Given the description of an element on the screen output the (x, y) to click on. 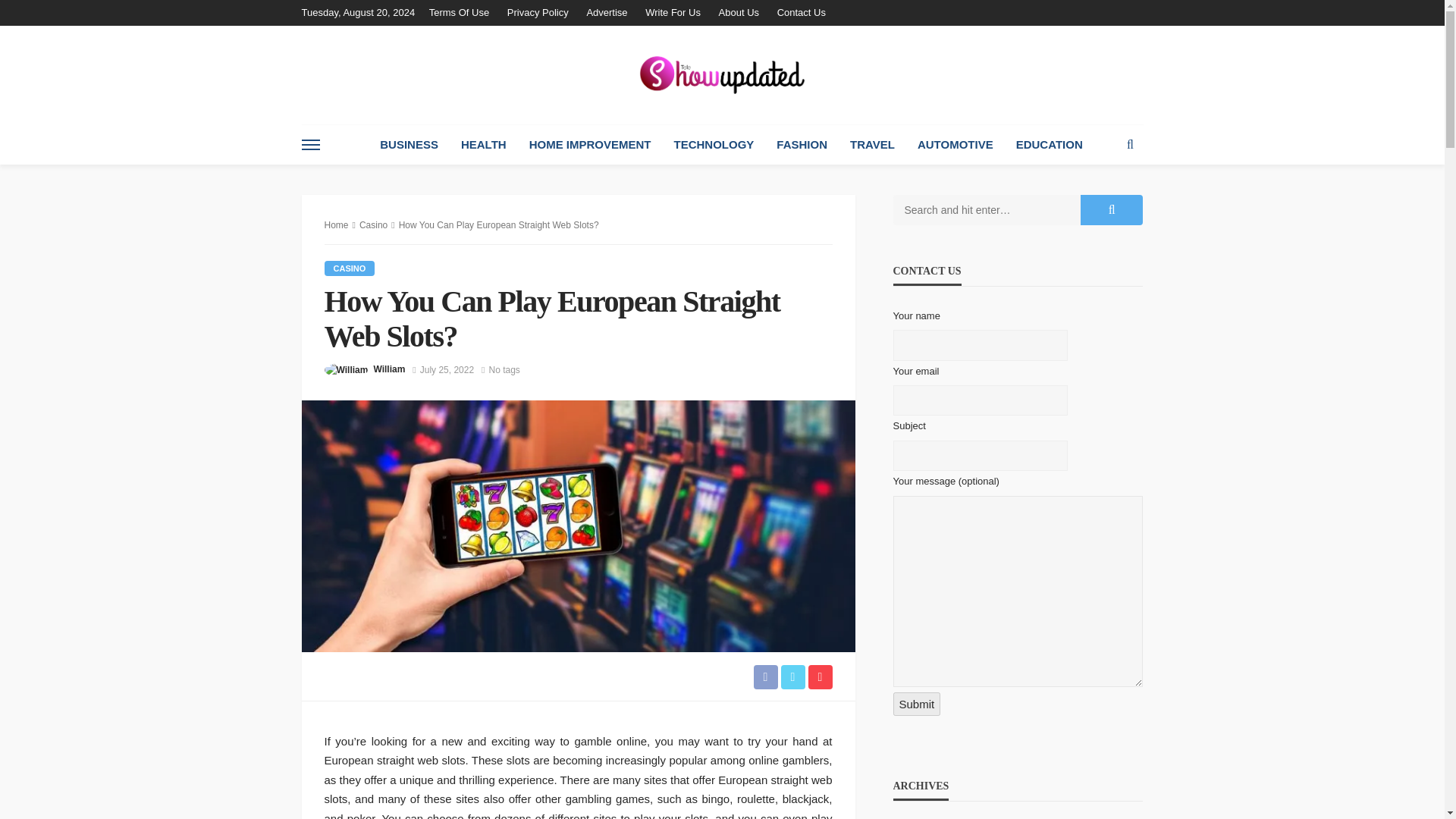
CASINO (349, 268)
Contact Us (801, 12)
Submit (916, 704)
HOME IMPROVEMENT (590, 144)
Casino (373, 225)
Privacy Policy (537, 12)
Tele Show Updates (721, 74)
About Us (739, 12)
EDUCATION (1049, 144)
William (388, 368)
